Given the description of an element on the screen output the (x, y) to click on. 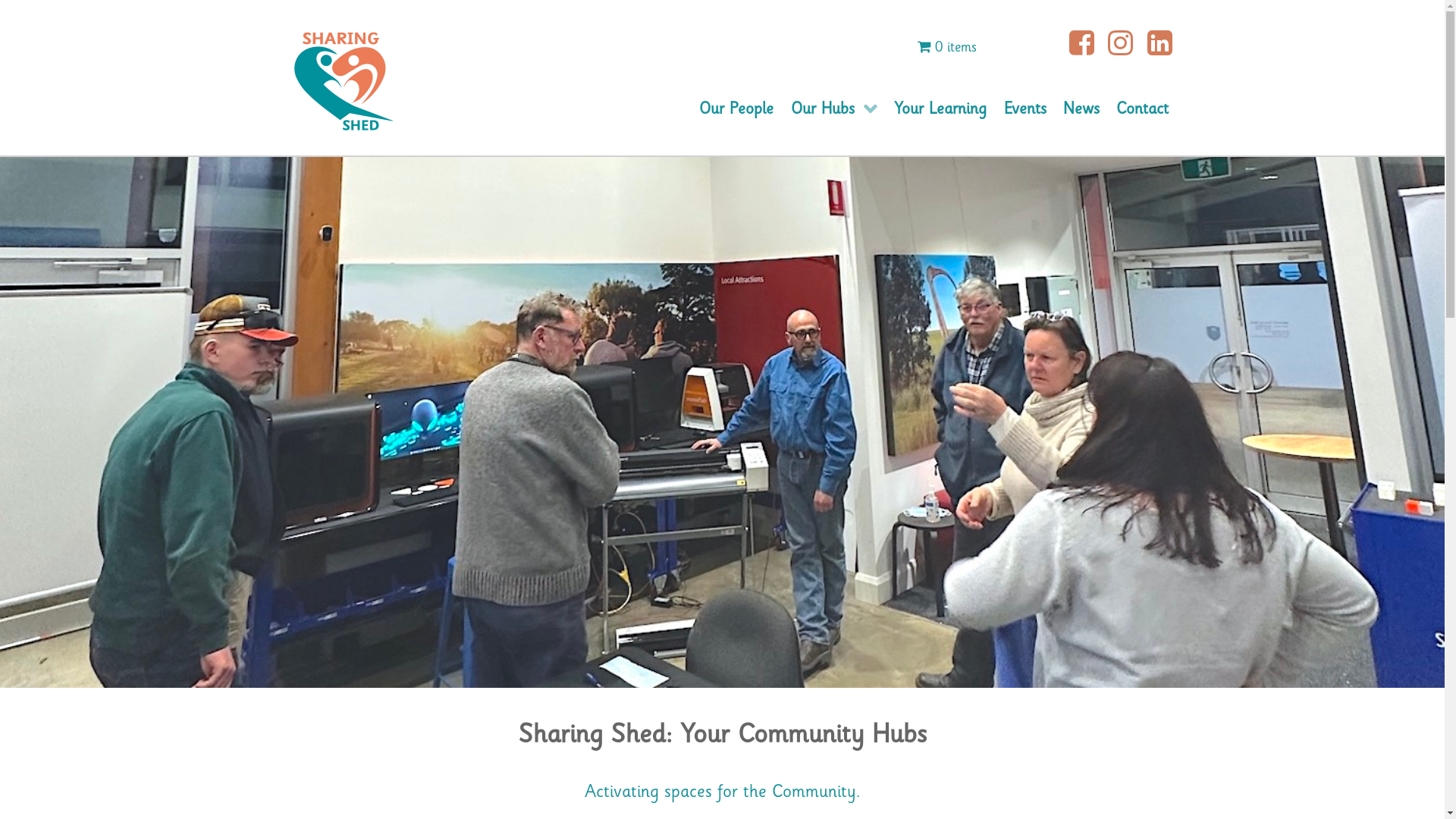
Your Learning Element type: text (939, 108)
Contact Element type: text (1141, 108)
0 items Element type: text (946, 47)
Our People Element type: text (735, 108)
Our Hubs Element type: text (833, 108)
News Element type: text (1080, 108)
Events Element type: text (1024, 108)
